Given the description of an element on the screen output the (x, y) to click on. 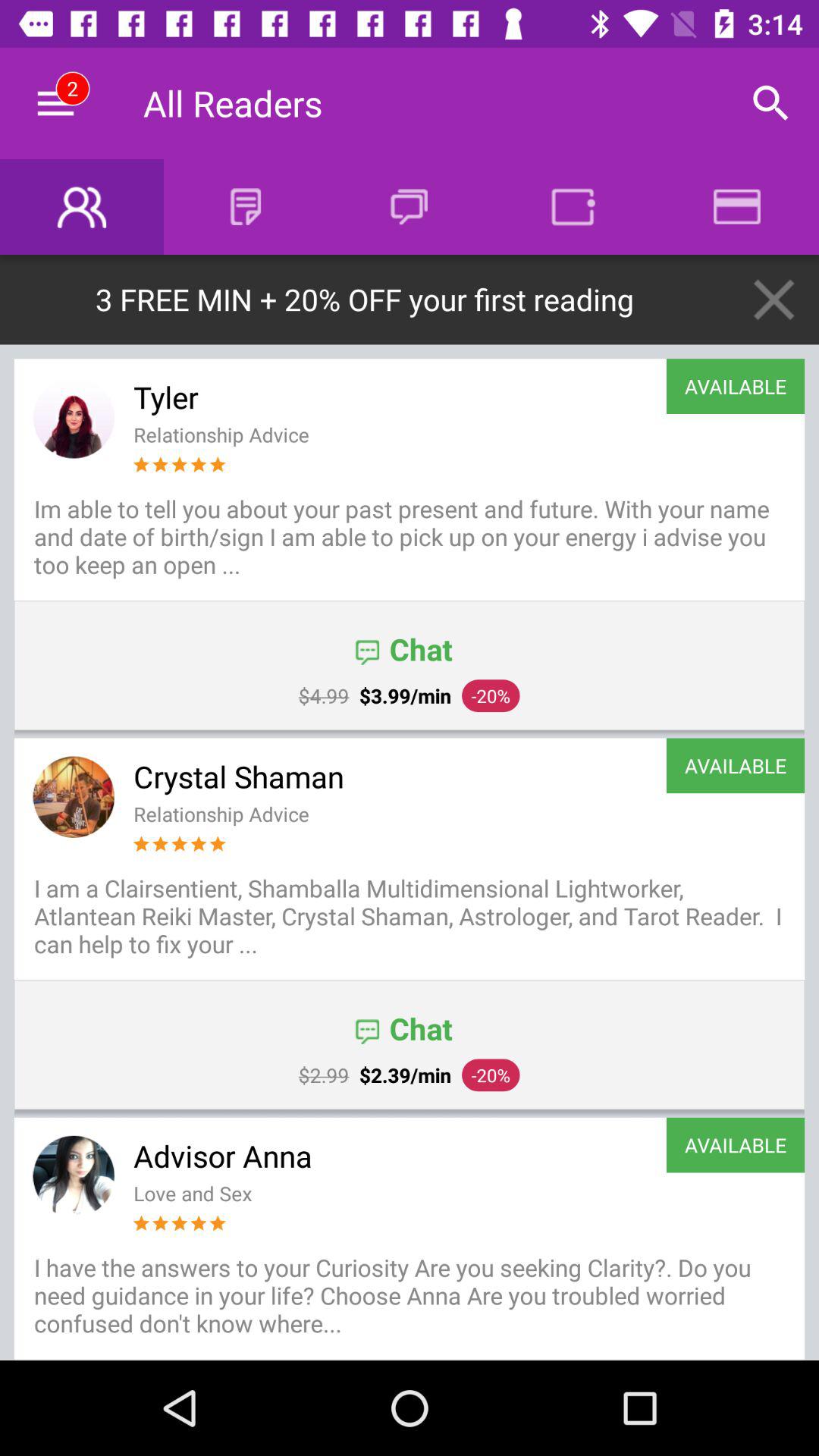
turn off the icon to the left of the all readers icon (55, 103)
